Given the description of an element on the screen output the (x, y) to click on. 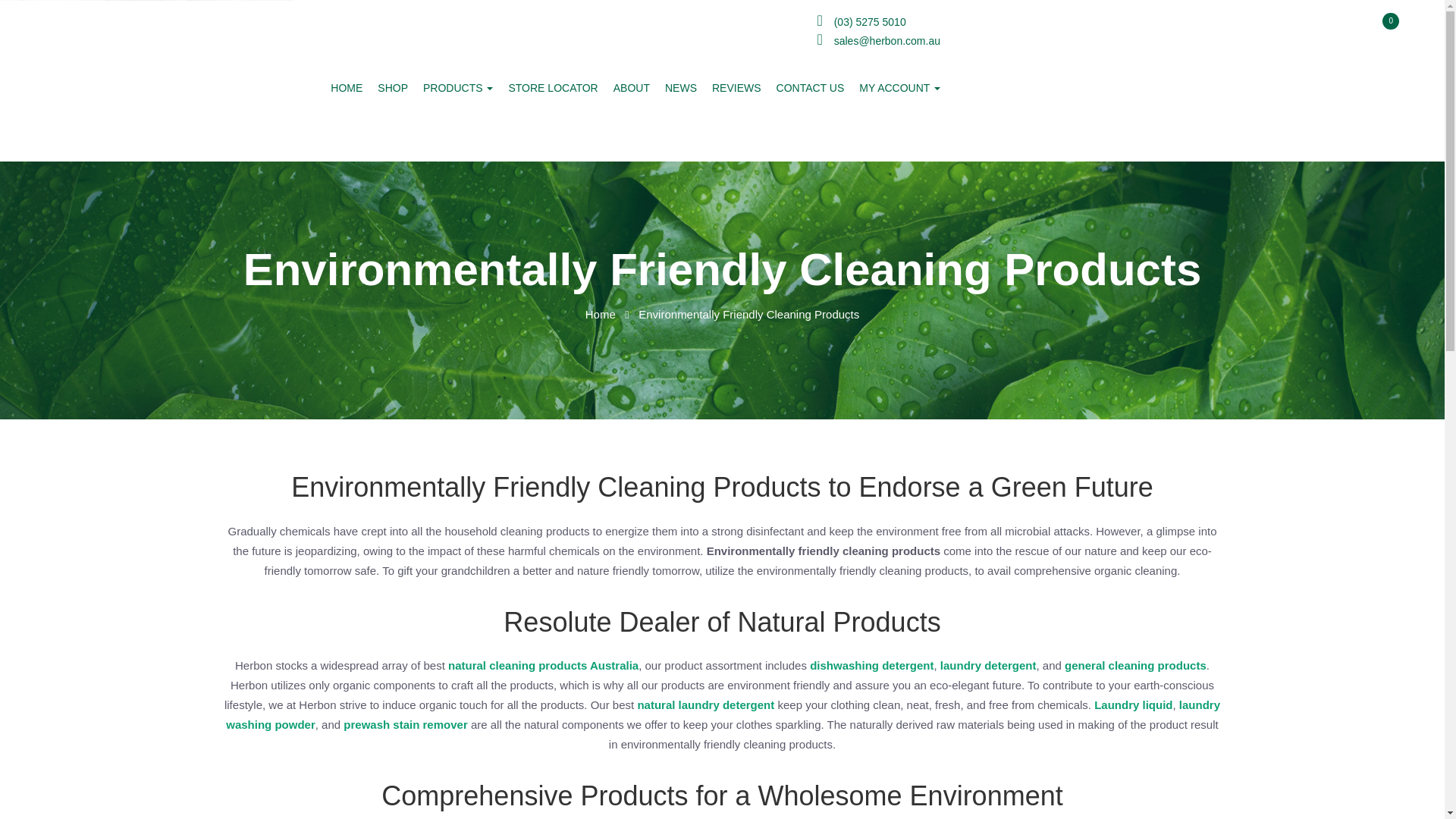
HOME (346, 87)
SHOP (391, 87)
View your shopping cart (1068, 82)
PRODUCTS (457, 87)
Products (457, 87)
Shop (391, 87)
0 (1068, 82)
Home (346, 87)
